Given the description of an element on the screen output the (x, y) to click on. 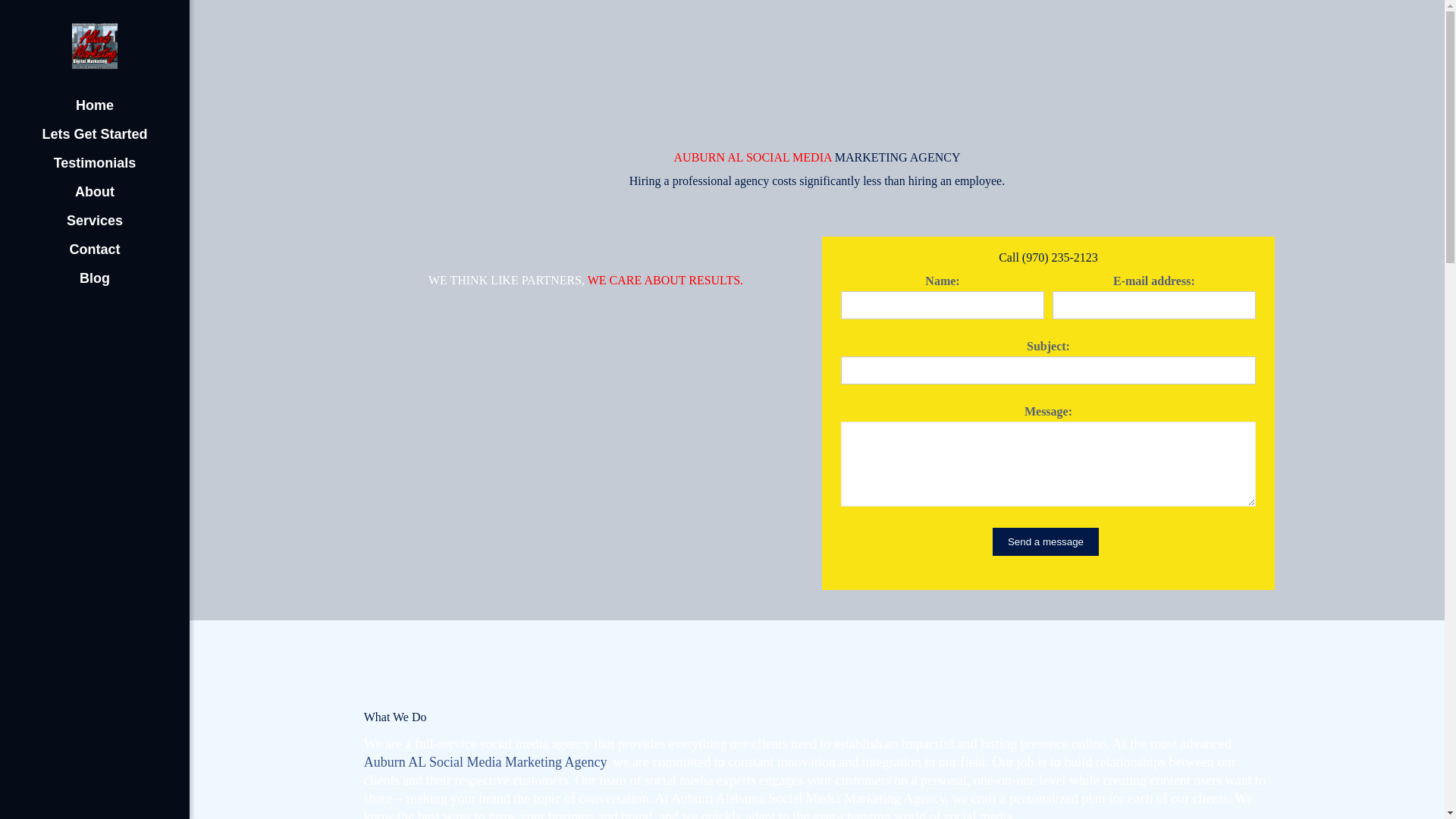
Testimonials (94, 162)
Send a message (1045, 541)
Lets Get Started (94, 133)
Services (94, 220)
Home (94, 104)
Contact (94, 249)
About (94, 191)
Send a message (1045, 541)
Auburn AL Social Media Marketing Agency (485, 761)
Blog (94, 277)
